Given the description of an element on the screen output the (x, y) to click on. 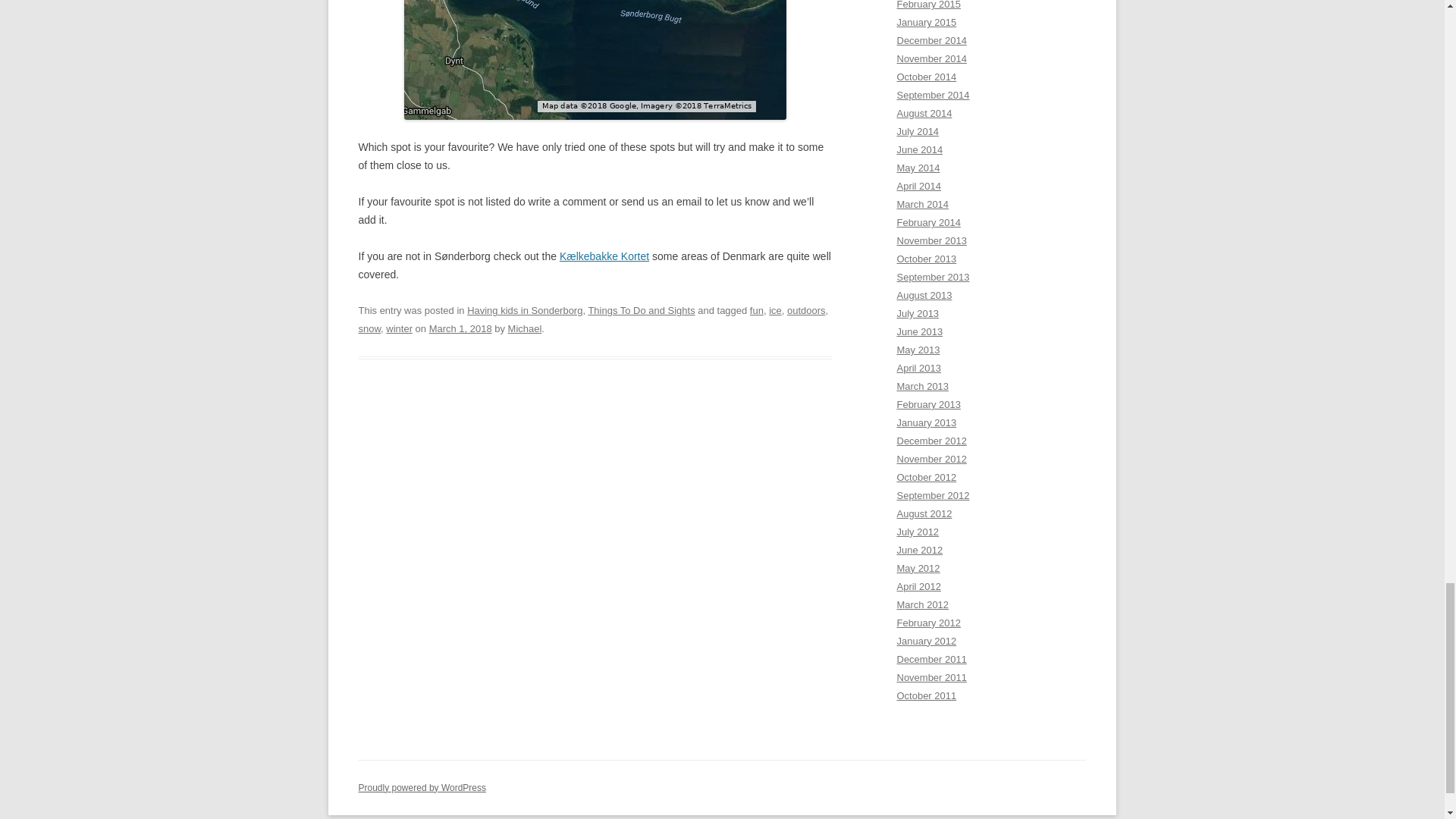
ice (774, 310)
View all posts by Michael (524, 328)
winter (398, 328)
fun (755, 310)
Things To Do and Sights (641, 310)
10:30 pm (460, 328)
Semantic Personal Publishing Platform (422, 787)
March 1, 2018 (460, 328)
snow (369, 328)
outdoors (806, 310)
Michael (524, 328)
Having kids in Sonderborg (524, 310)
